Given the description of an element on the screen output the (x, y) to click on. 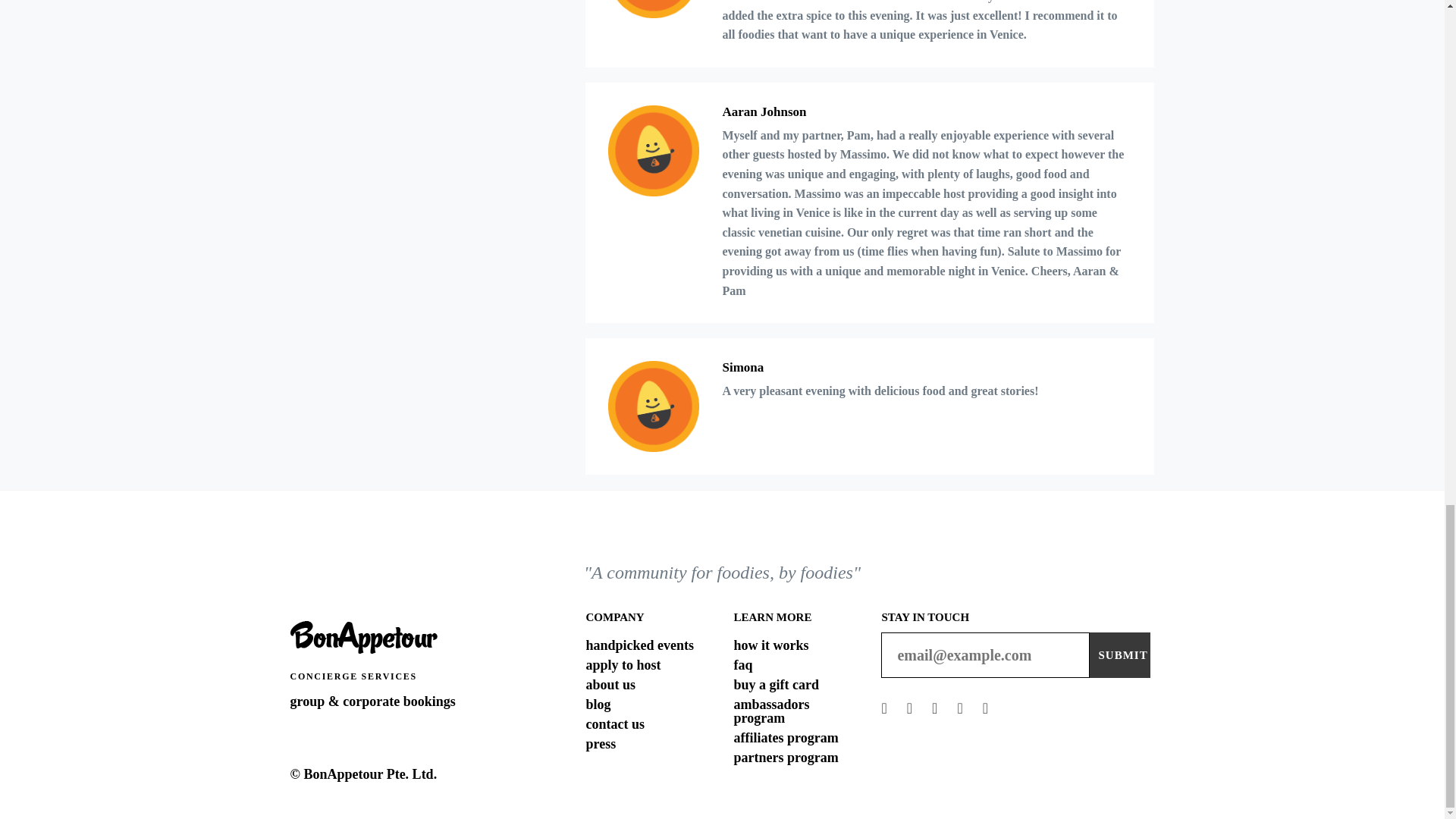
Submit (1119, 655)
about us (609, 684)
apply to host (623, 664)
blog (597, 703)
press (600, 743)
handpicked events (639, 645)
contact us (615, 724)
